Given the description of an element on the screen output the (x, y) to click on. 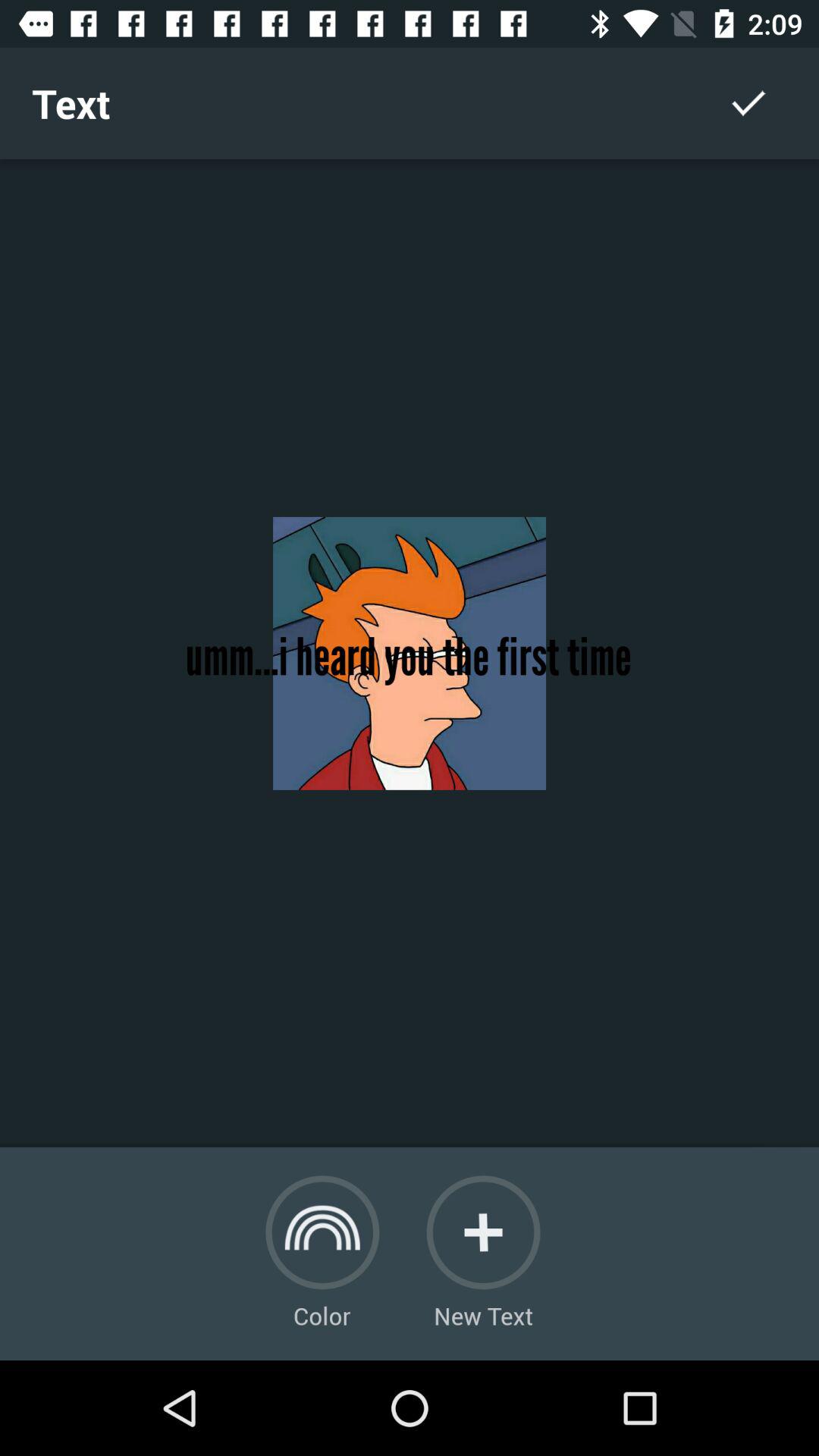
toggle color (322, 1232)
